Given the description of an element on the screen output the (x, y) to click on. 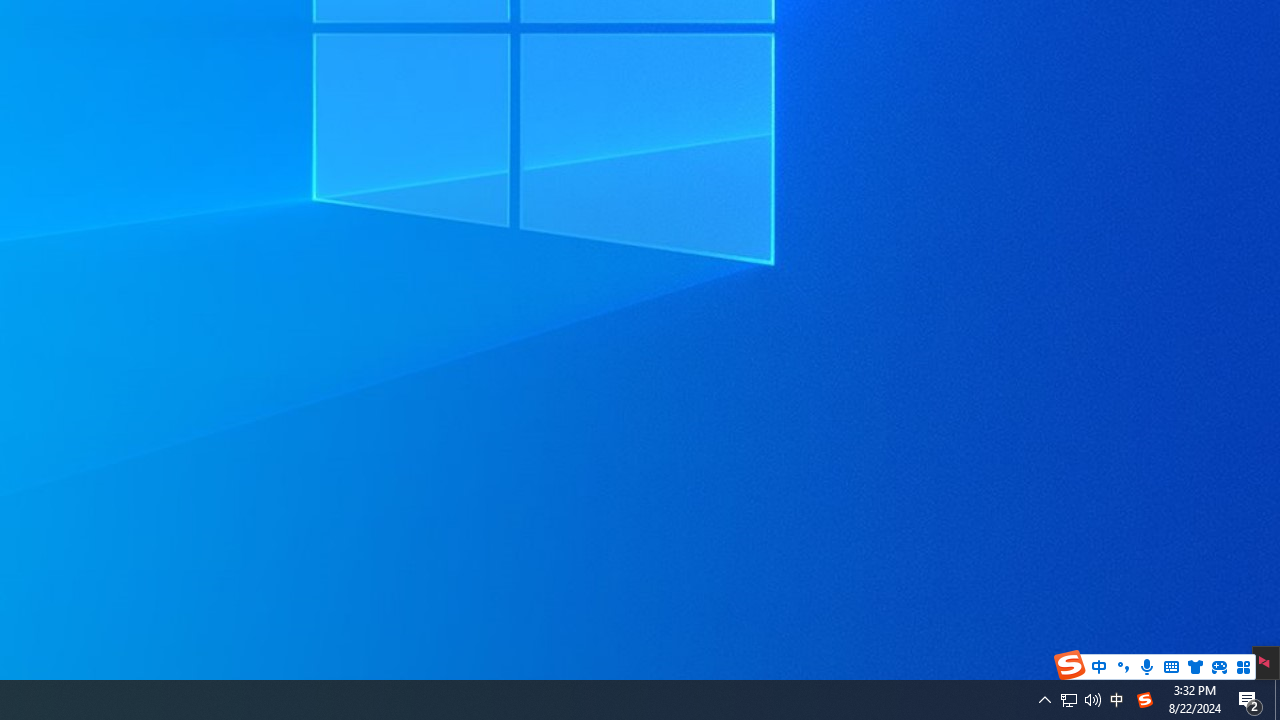
Action Center, 2 new notifications (1250, 699)
